Given the description of an element on the screen output the (x, y) to click on. 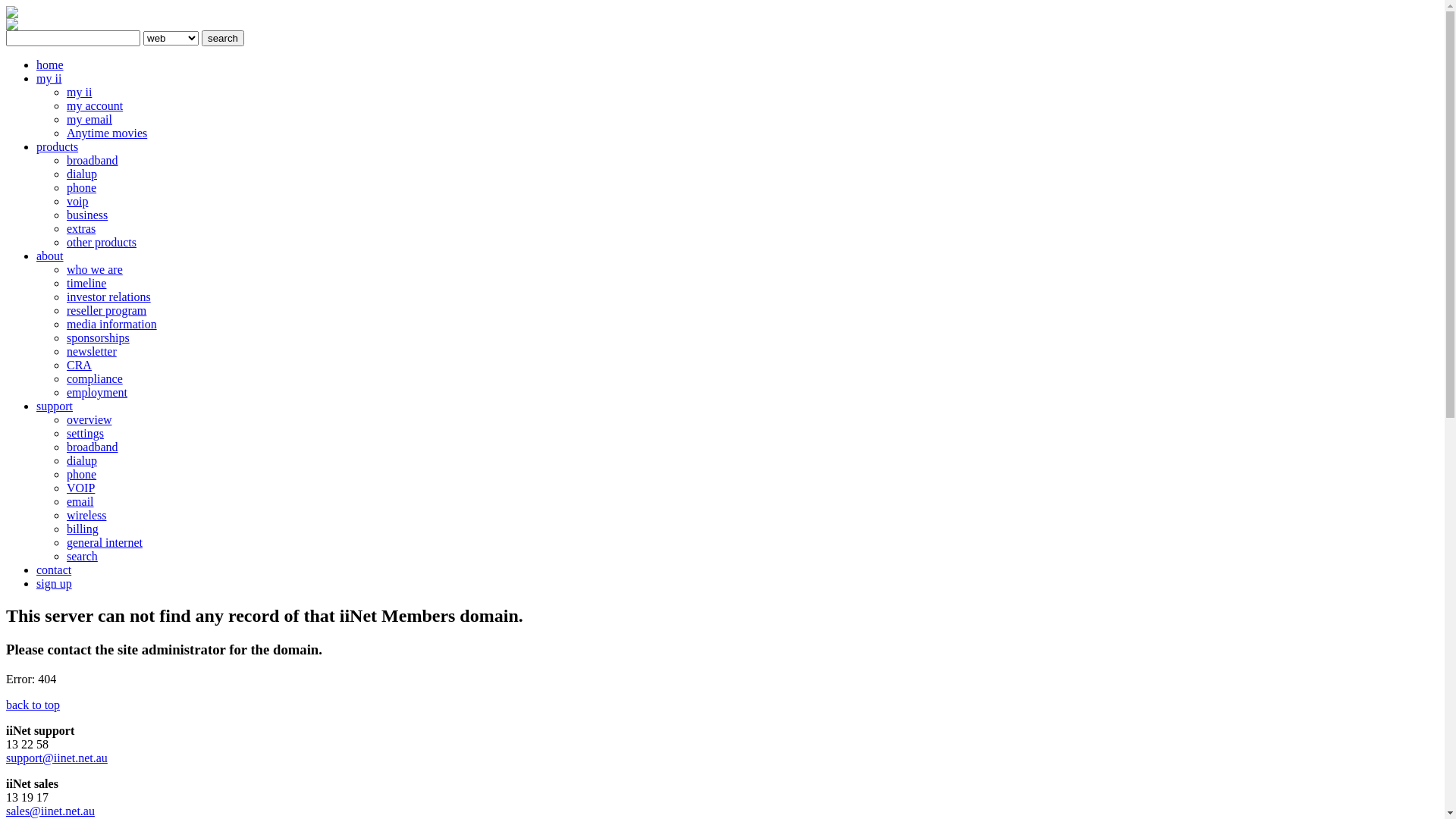
timeline Element type: text (86, 282)
business Element type: text (86, 214)
investor relations Element type: text (108, 296)
general internet Element type: text (104, 542)
newsletter Element type: text (91, 351)
products Element type: text (57, 146)
my email Element type: text (89, 118)
employment Element type: text (96, 391)
phone Element type: text (81, 473)
other products Element type: text (101, 241)
dialup Element type: text (81, 460)
about Element type: text (49, 255)
Anytime movies Element type: text (106, 132)
billing Element type: text (82, 528)
my ii Element type: text (78, 91)
sales@iinet.net.au Element type: text (50, 810)
who we are Element type: text (94, 269)
reseller program Element type: text (106, 310)
email Element type: text (80, 501)
voip Element type: text (76, 200)
search Element type: text (222, 38)
CRA Element type: text (78, 364)
search Element type: text (81, 555)
media information Element type: text (111, 323)
contact Element type: text (53, 569)
broadband Element type: text (92, 446)
compliance Element type: text (94, 378)
settings Element type: text (84, 432)
my account Element type: text (94, 105)
broadband Element type: text (92, 159)
home Element type: text (49, 64)
dialup Element type: text (81, 173)
back to top Element type: text (32, 704)
extras Element type: text (80, 228)
phone Element type: text (81, 187)
sign up Element type: text (54, 583)
VOIP Element type: text (80, 487)
support Element type: text (54, 405)
wireless Element type: text (86, 514)
sponsorships Element type: text (97, 337)
my ii Element type: text (48, 78)
overview Element type: text (89, 419)
support@iinet.net.au Element type: text (56, 757)
